Given the description of an element on the screen output the (x, y) to click on. 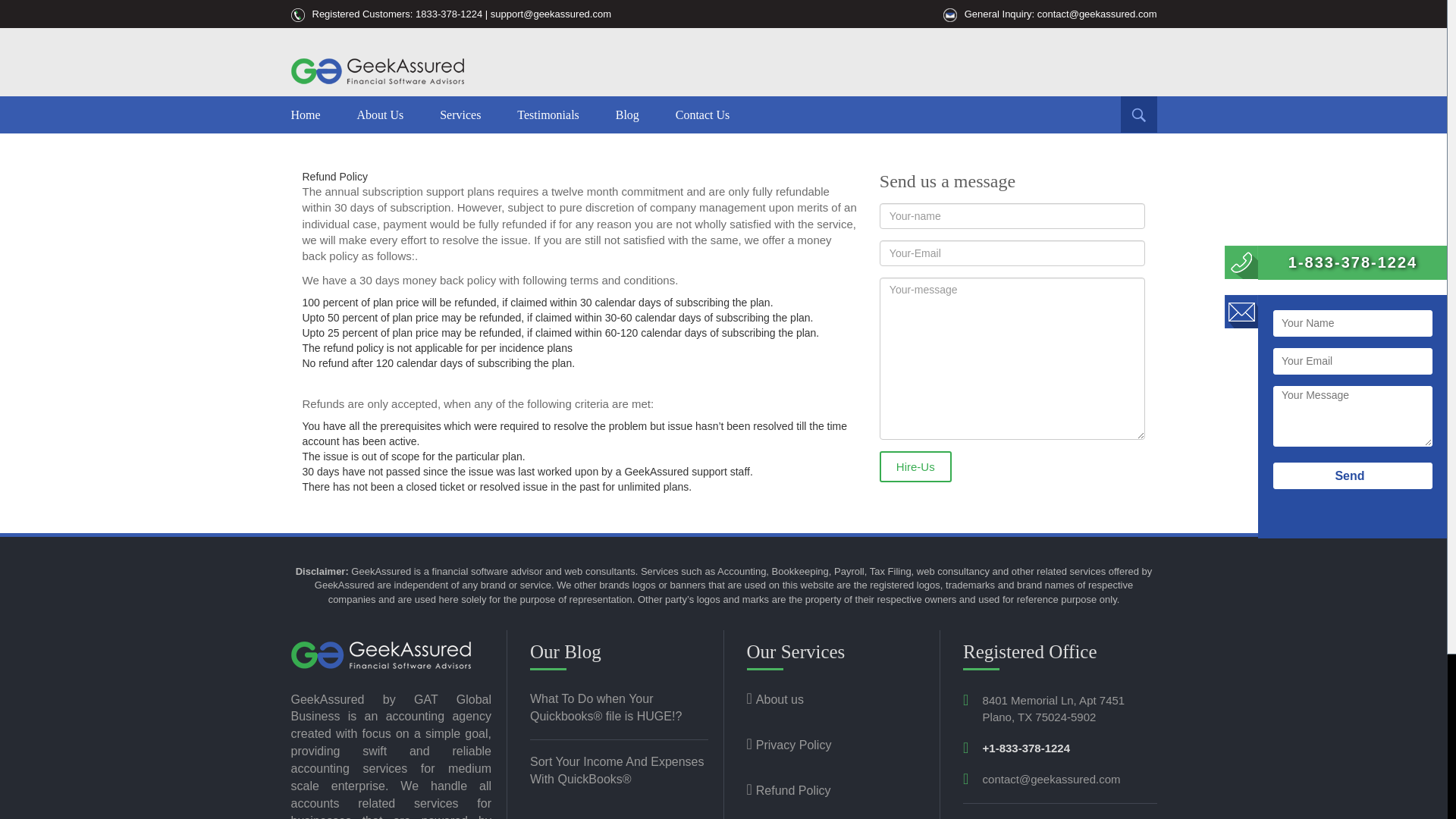
Hire-Us (915, 466)
About us (774, 698)
About Us (379, 115)
Hire-Us (915, 466)
Send (1352, 475)
Send (1352, 475)
Testimonials (547, 115)
Privacy Policy (788, 744)
Services (459, 115)
Refund Policy (787, 789)
